Given the description of an element on the screen output the (x, y) to click on. 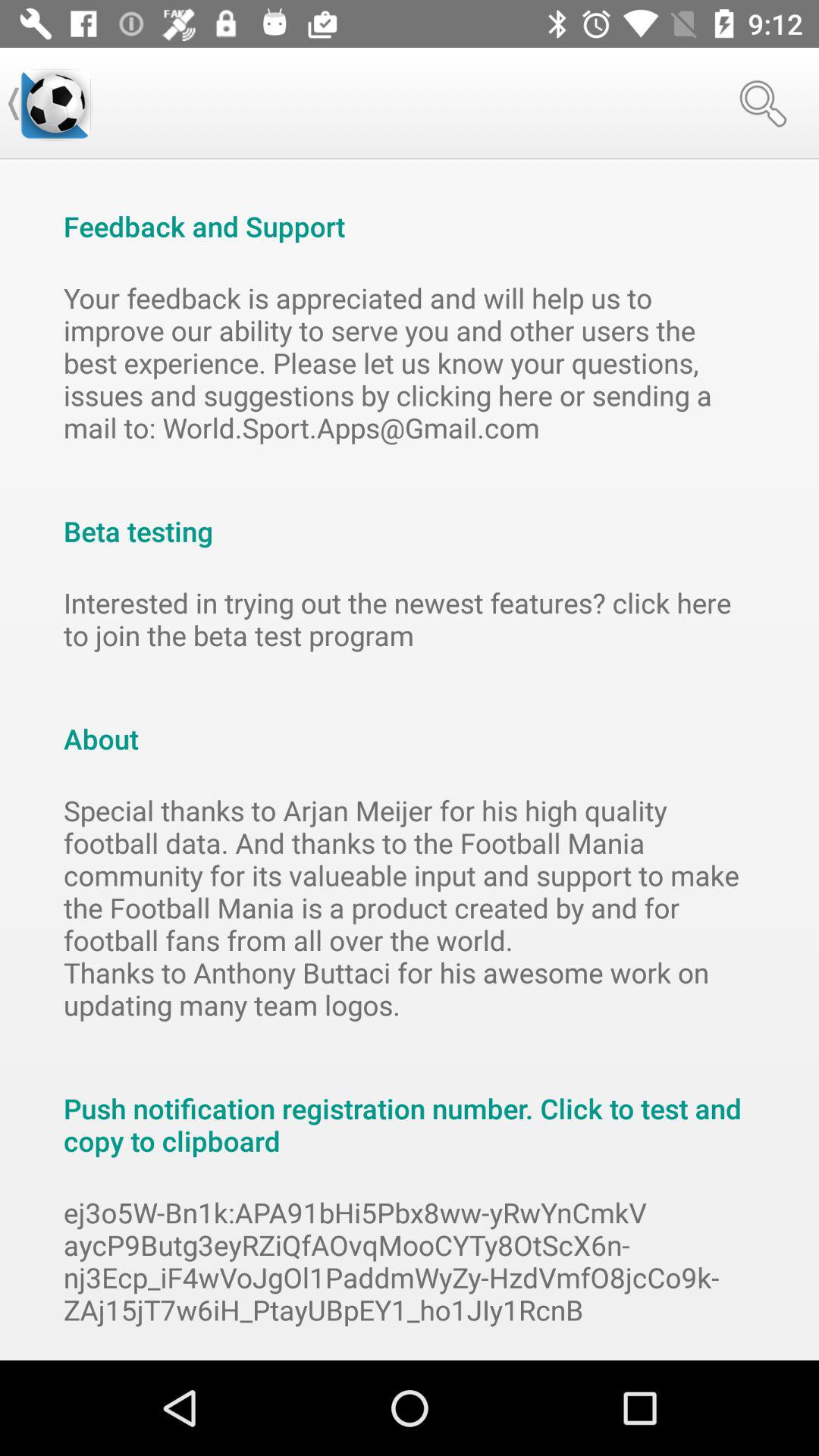
turn on item below the your feedback is (409, 514)
